Given the description of an element on the screen output the (x, y) to click on. 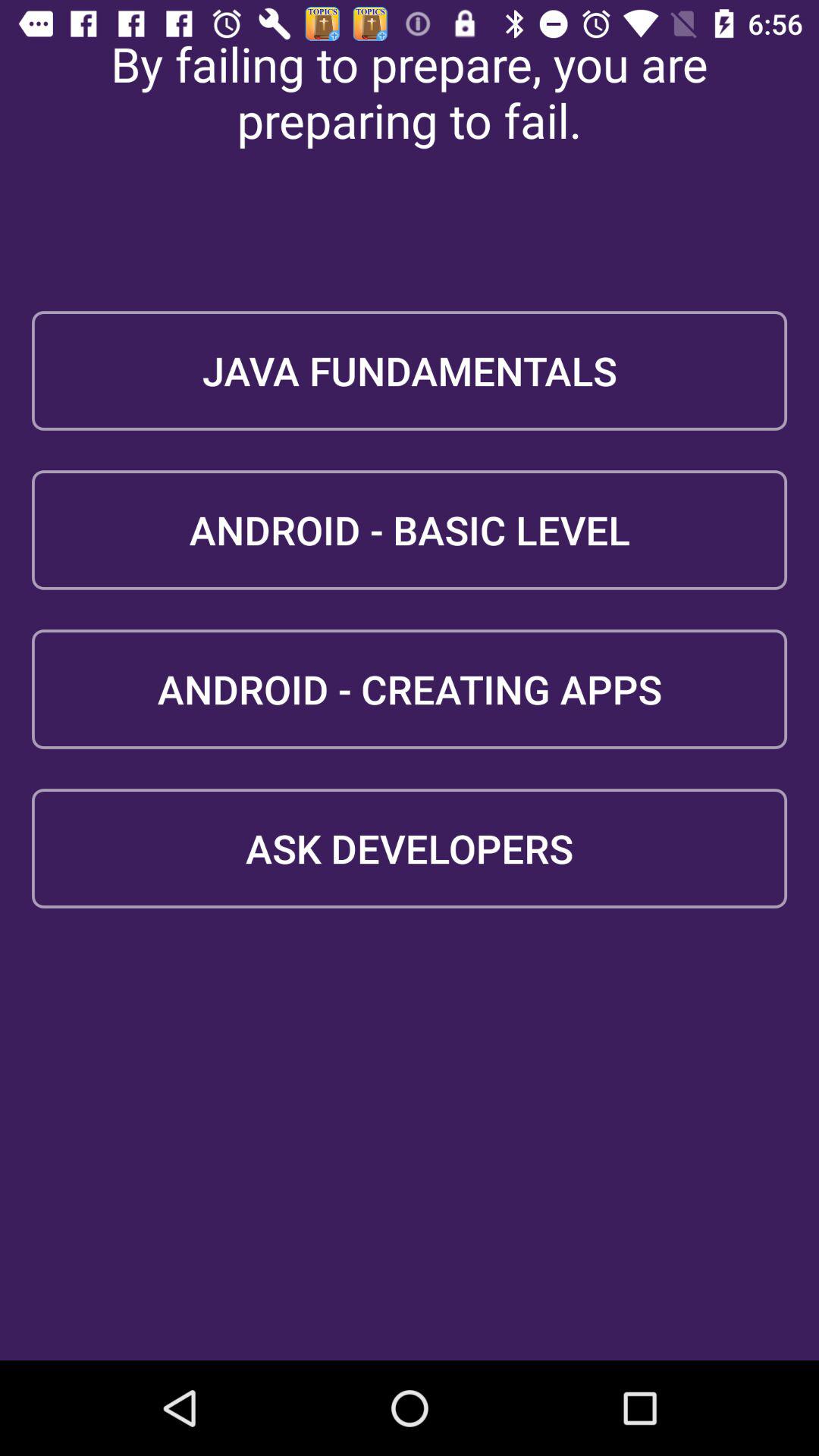
open icon below by failing to item (409, 370)
